Given the description of an element on the screen output the (x, y) to click on. 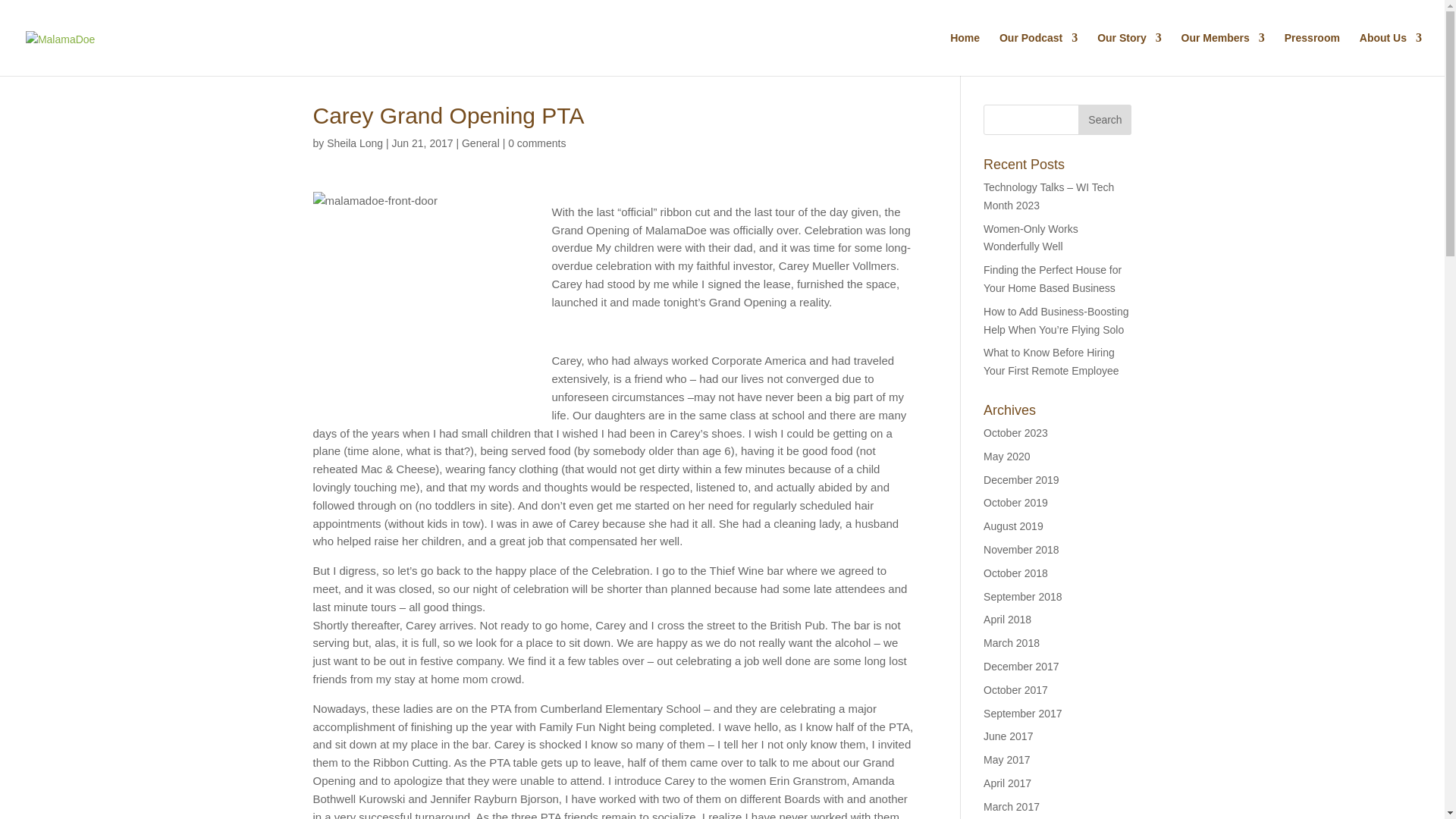
Our Podcast (1037, 54)
November 2018 (1021, 549)
Finding the Perfect House for Your Home Based Business (1052, 278)
Posts by Sheila Long (354, 143)
0 comments (537, 143)
Home (964, 54)
October 2023 (1016, 432)
Women-Only Works Wonderfully Well (1031, 237)
Our Members (1222, 54)
General (480, 143)
What to Know Before Hiring Your First Remote Employee (1051, 361)
May 2020 (1006, 456)
December 2019 (1021, 480)
About Us (1390, 54)
Pressroom (1311, 54)
